Given the description of an element on the screen output the (x, y) to click on. 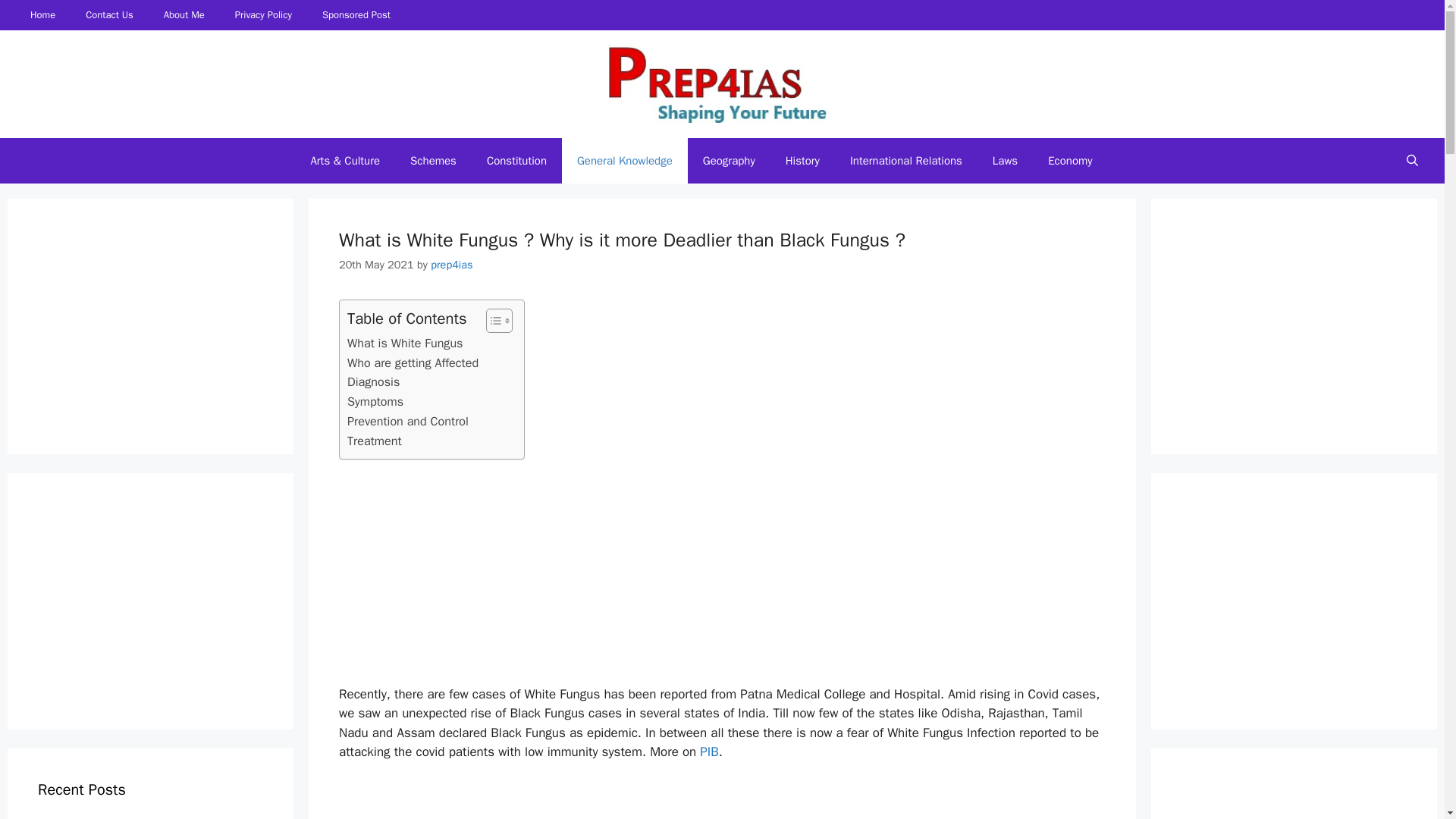
History (802, 160)
Advertisement (150, 323)
Schemes (432, 160)
Diagnosis (372, 382)
View all posts by prep4ias (450, 264)
Advertisement (1294, 597)
Diagnosis (372, 382)
Advertisement (1294, 323)
What is White Fungus (405, 342)
International Relations (905, 160)
